Given the description of an element on the screen output the (x, y) to click on. 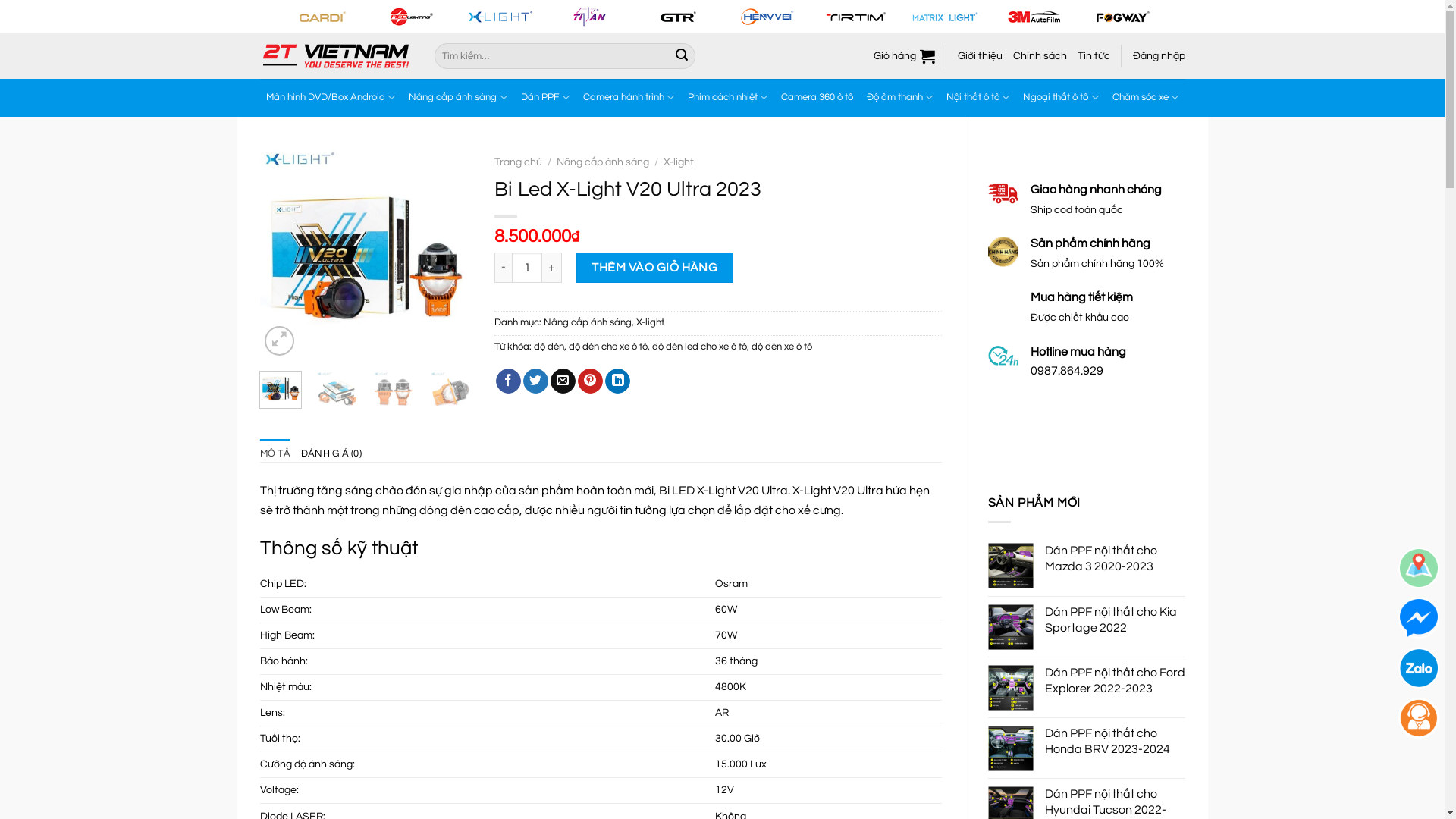
Zoom Element type: hover (279, 340)
X-light Element type: text (650, 322)
X-light Element type: text (678, 161)
Share on Facebook Element type: hover (507, 381)
Share on Twitter Element type: hover (535, 381)
Bi Led X-Light V20 Ultra 2023 Element type: hover (393, 391)
xlight-v20-ultra-2023-3 Element type: hover (153, 253)
Share on LinkedIn Element type: hover (617, 381)
Email to a Friend Element type: hover (562, 381)
xlight-v20-ultra-2023-1 Element type: hover (365, 253)
Bi Led X-Light V20 Ultra 2023 Element type: hover (336, 391)
Bi Led X-Light V20 Ultra 2023 Element type: hover (450, 391)
Pin on Pinterest Element type: hover (589, 381)
